Given the description of an element on the screen output the (x, y) to click on. 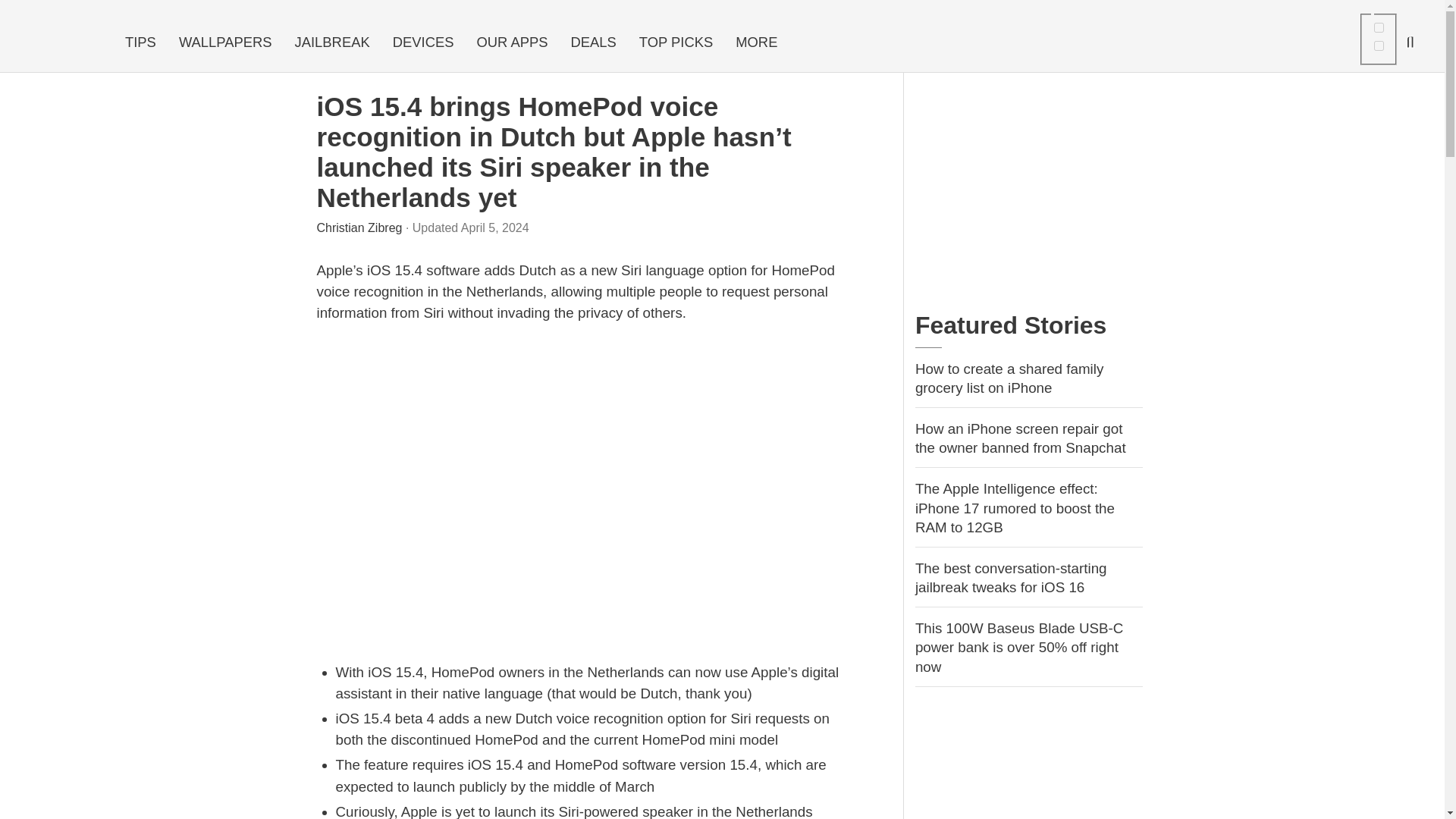
TIPS (140, 42)
Tips (140, 42)
WALLPAPERS (225, 42)
OUR APPS (511, 42)
JAILBREAK (332, 42)
Wallpapers (225, 42)
DEVICES (423, 42)
